Given the description of an element on the screen output the (x, y) to click on. 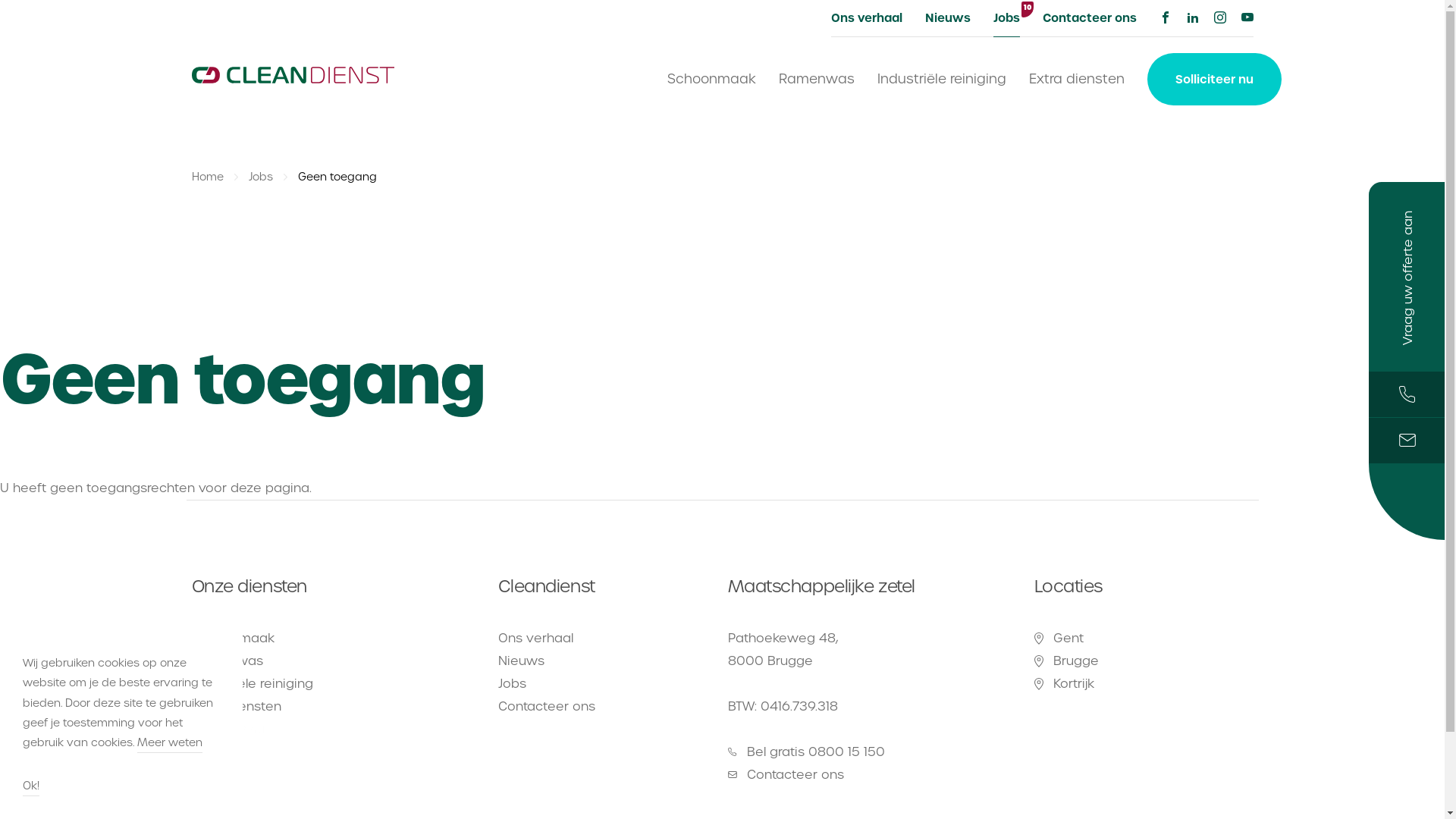
Home Element type: text (208, 176)
Ramenwas Element type: text (815, 78)
LinkedIn Element type: text (1192, 18)
Ramenwas Element type: text (226, 660)
Solliciteer nu Element type: text (1213, 79)
Contacteer ons Element type: text (1088, 18)
Ons verhaal Element type: text (866, 18)
Schoonmaak Element type: text (232, 637)
Geen toegang Element type: text (336, 176)
Overslaan en naar de inhoud gaan Element type: text (0, 0)
Extra diensten Element type: text (235, 706)
YouTube Element type: text (1246, 18)
Solliciteer nu Element type: text (227, 728)
Jobs Element type: text (262, 176)
Jobs Element type: text (511, 683)
Extra diensten Element type: text (1075, 78)
Contacteer ons Element type: text (545, 706)
Meer weten Element type: text (169, 745)
Instagram Element type: text (1219, 18)
Facebook Element type: text (1164, 18)
Nieuws Element type: text (947, 18)
Jobs Element type: text (1006, 18)
Nieuws Element type: text (520, 660)
Contacteer ons Element type: text (875, 774)
Ons verhaal Element type: text (534, 637)
Bel gratis 0800 15 150 Element type: text (875, 751)
Ok! Element type: text (30, 788)
Schoonmaak Element type: text (711, 78)
